Given the description of an element on the screen output the (x, y) to click on. 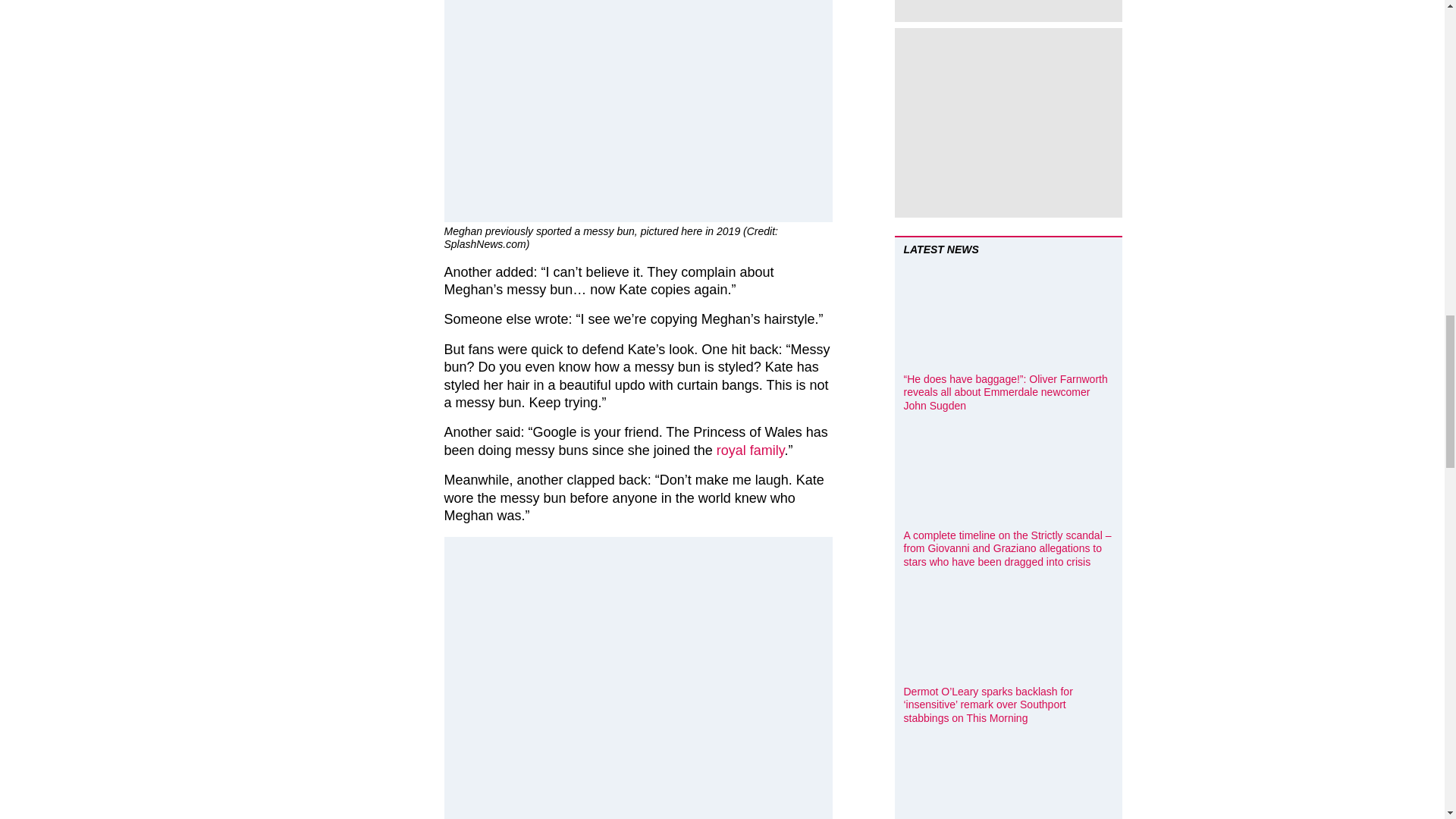
royal family (750, 450)
